Given the description of an element on the screen output the (x, y) to click on. 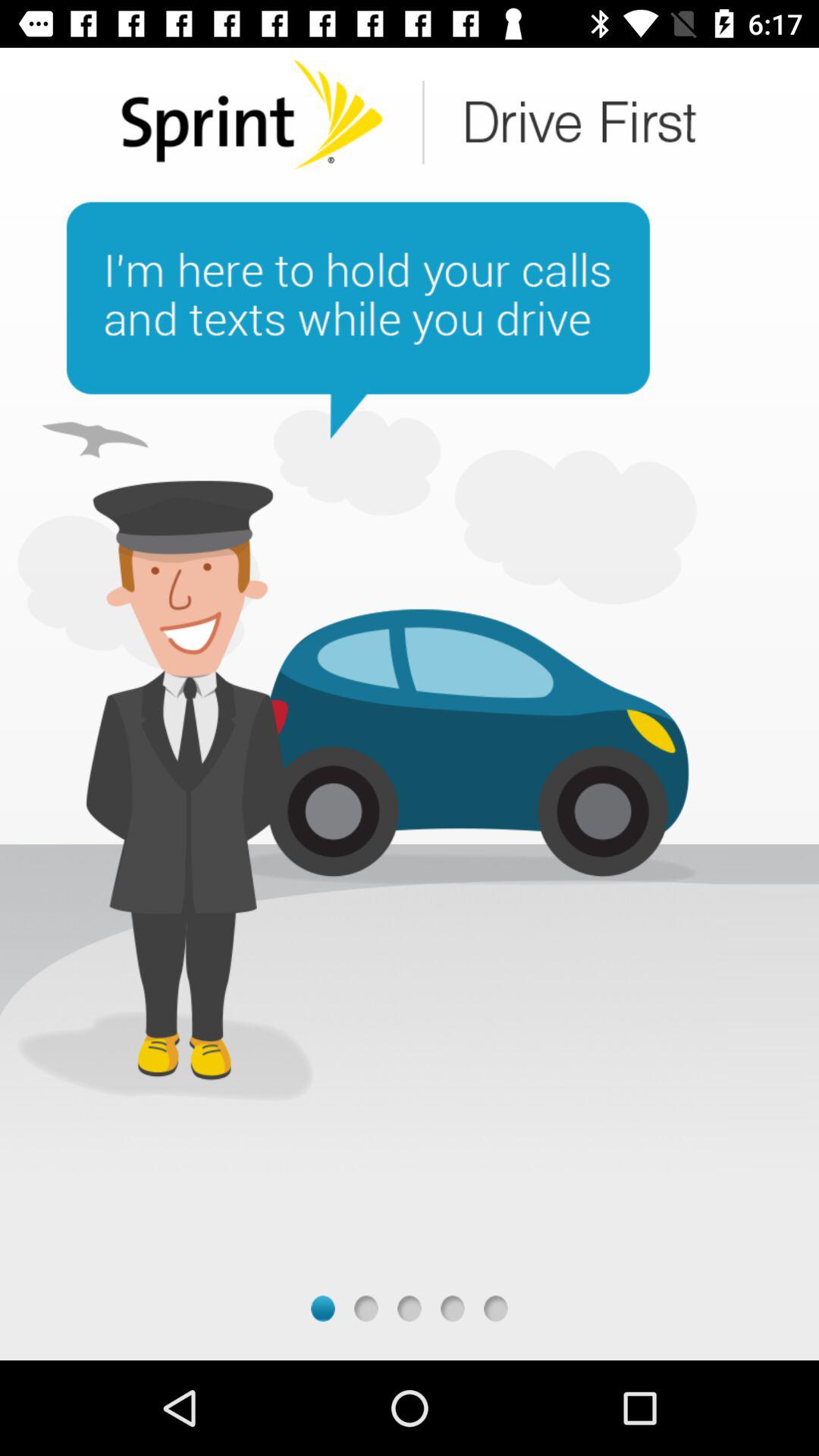
go to last page (495, 1308)
